Given the description of an element on the screen output the (x, y) to click on. 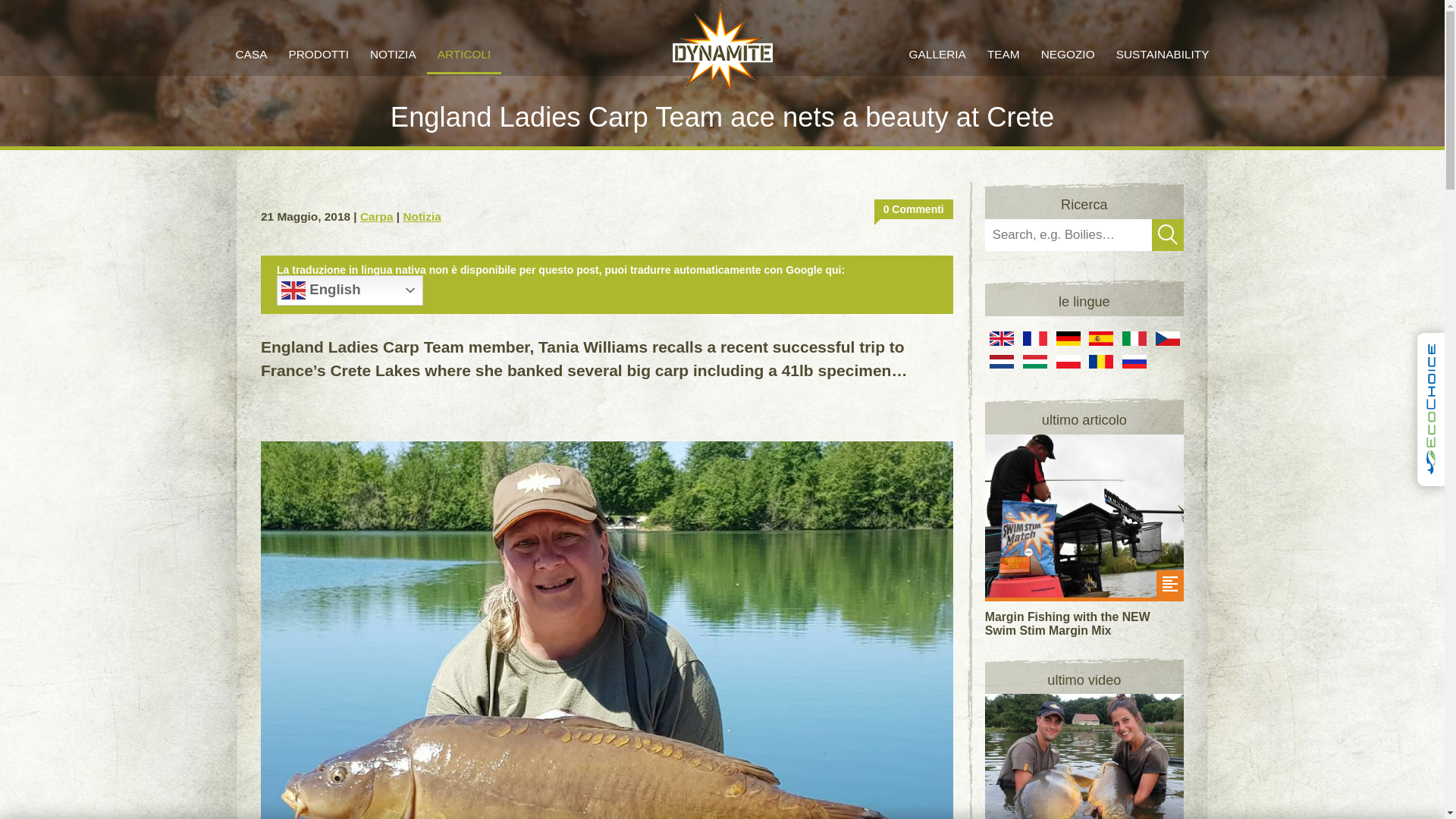
Carpa (376, 215)
TEAM (1003, 54)
English (349, 290)
Notizia (422, 215)
SUSTAINABILITY (1162, 54)
ARTICOLI (464, 55)
0 Commenti (914, 209)
NOTIZIA (392, 55)
PRODOTTI (318, 55)
NEGOZIO (1067, 55)
GALLERIA (937, 54)
CASA (251, 55)
Scroll to the comments (914, 209)
